Given the description of an element on the screen output the (x, y) to click on. 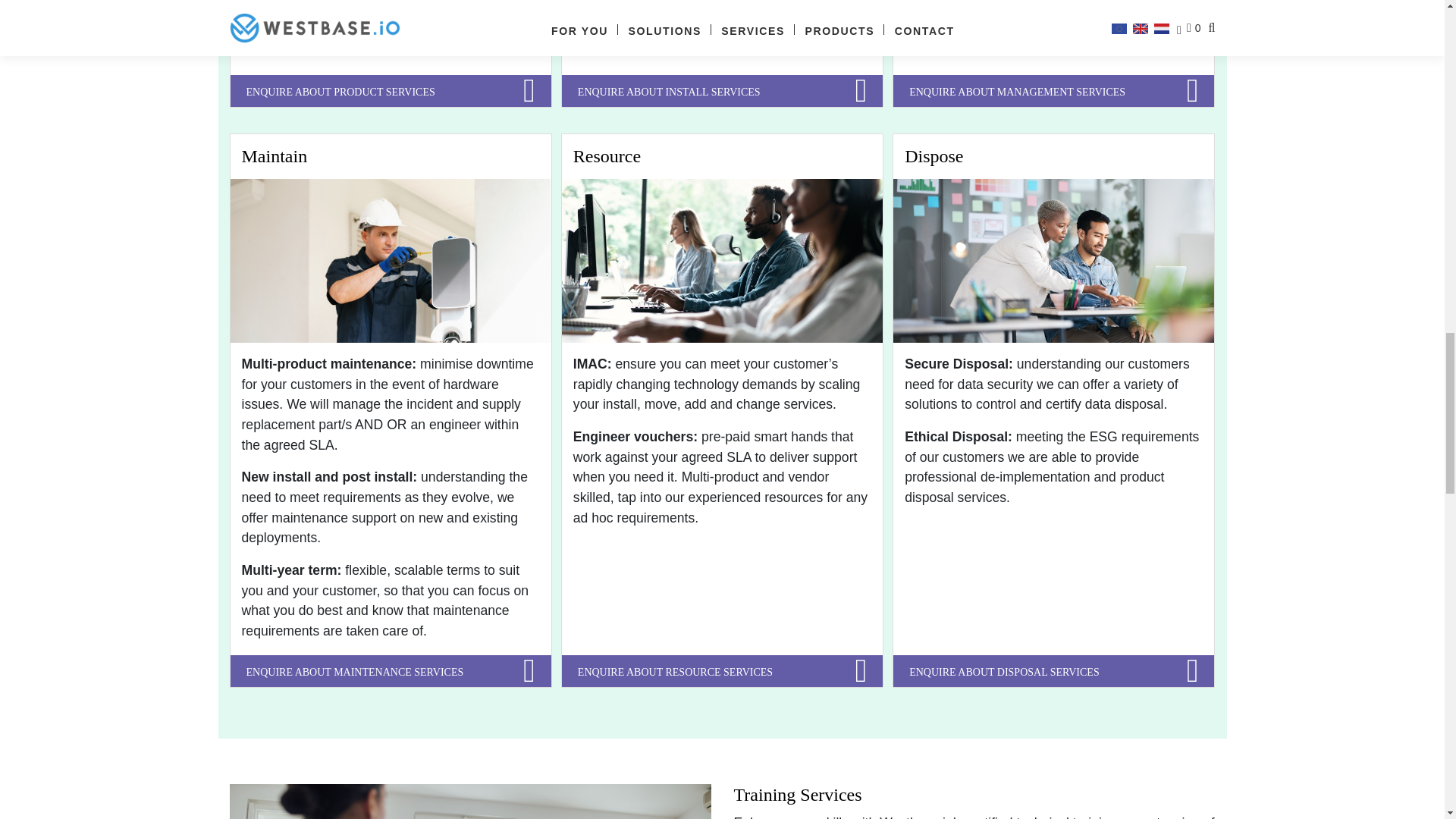
Contact (1053, 91)
Maintenance Services (390, 261)
Networks Partner Services (722, 91)
Contact (1053, 671)
Disposal Services (1053, 261)
Networks Partner Services (722, 671)
Resource Services (722, 261)
